Given the description of an element on the screen output the (x, y) to click on. 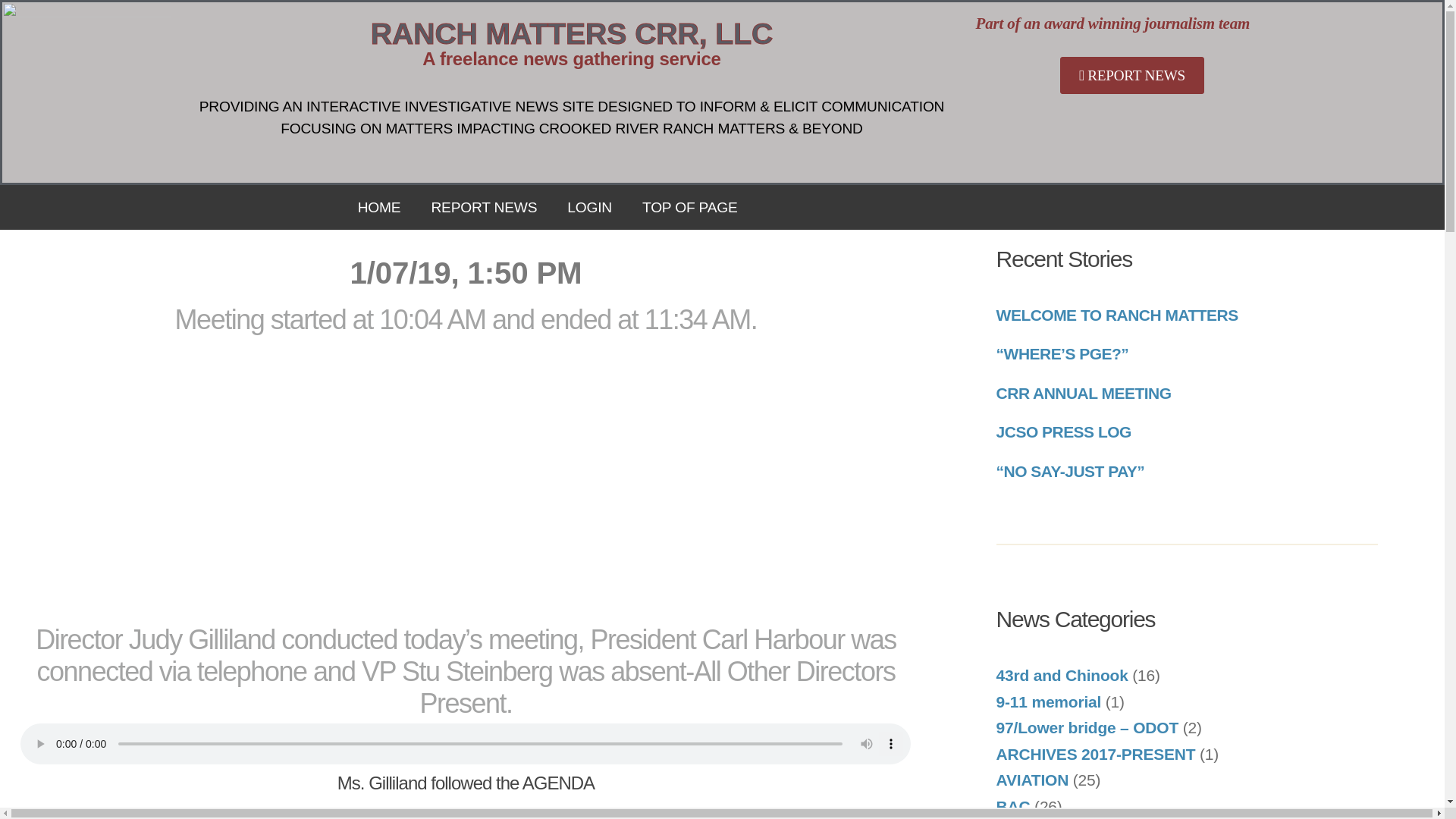
BAC (1012, 806)
43rd and Chinook (1061, 675)
9-11 memorial (1048, 701)
REPORT NEWS (1131, 75)
REPORT NEWS (482, 207)
AVIATION (1031, 780)
HOME (379, 207)
LOGIN (589, 207)
